Given the description of an element on the screen output the (x, y) to click on. 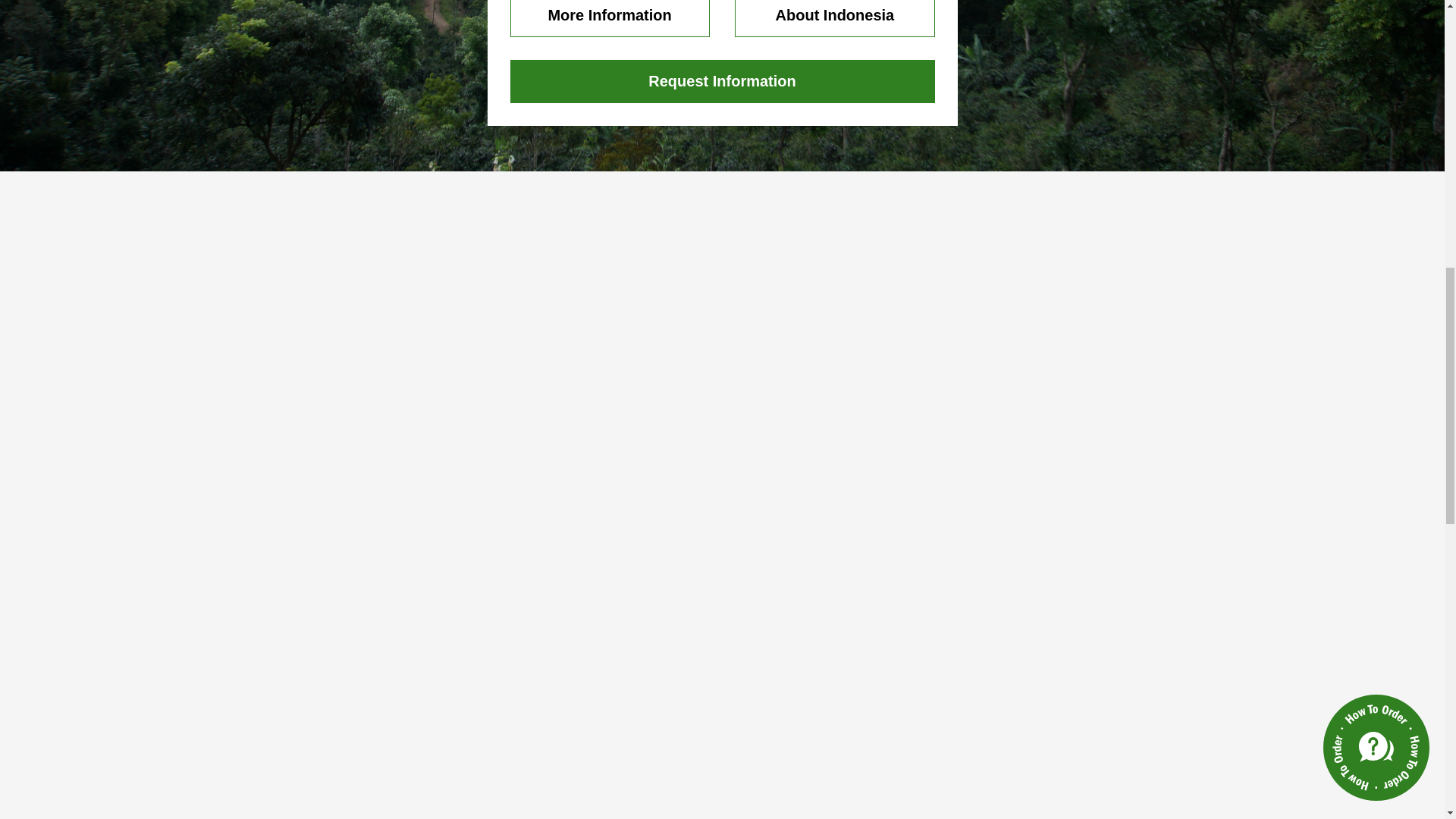
Request Information (721, 81)
About Indonesia (834, 18)
More Information (609, 18)
